Given the description of an element on the screen output the (x, y) to click on. 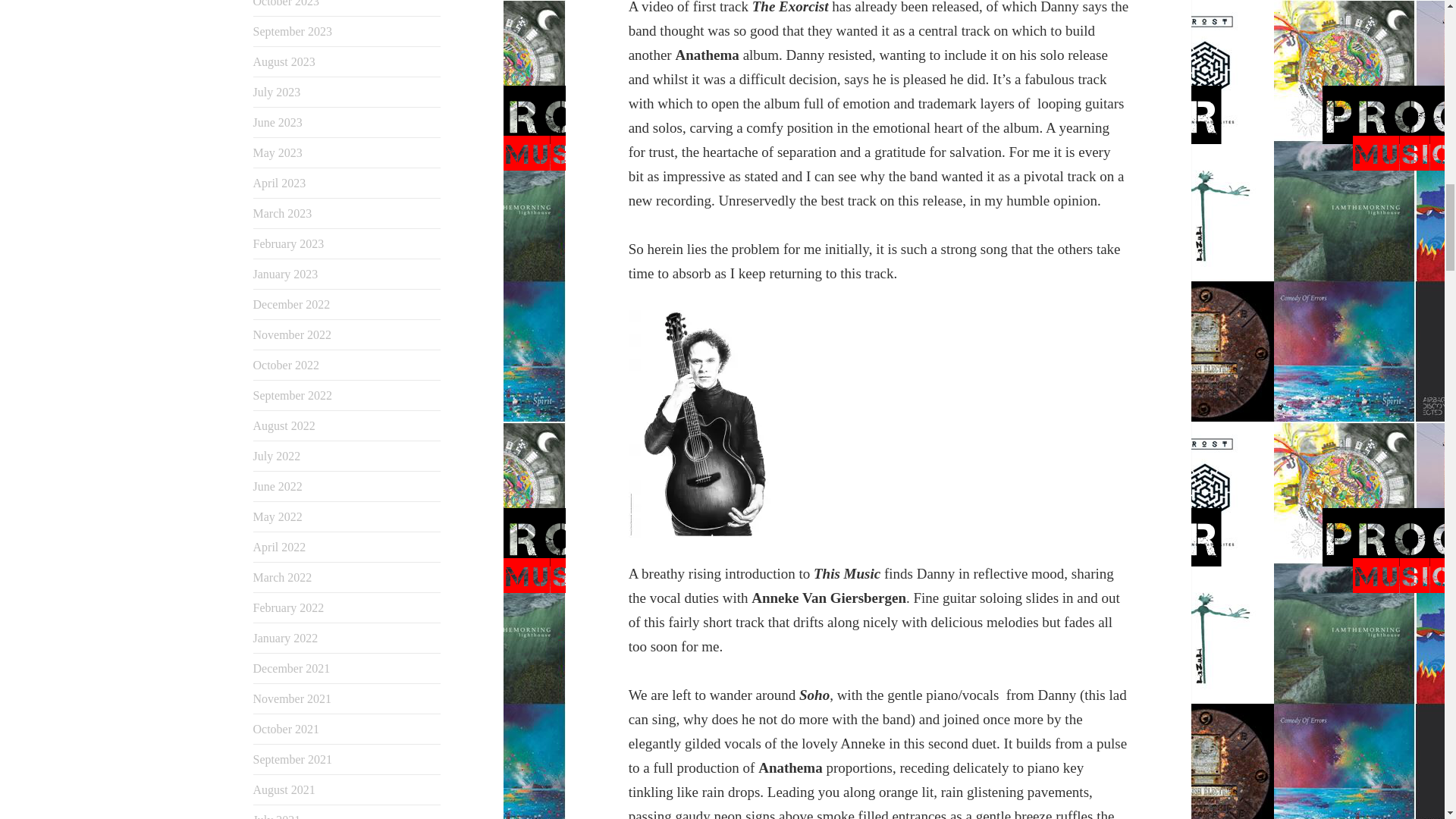
October 2023 (286, 3)
July 2023 (277, 91)
December 2022 (291, 304)
August 2023 (284, 61)
November 2022 (292, 334)
February 2023 (288, 243)
June 2023 (277, 122)
May 2023 (277, 152)
September 2022 (292, 395)
September 2023 (292, 31)
January 2023 (285, 273)
March 2023 (283, 213)
October 2022 (286, 364)
April 2023 (279, 182)
